Given the description of an element on the screen output the (x, y) to click on. 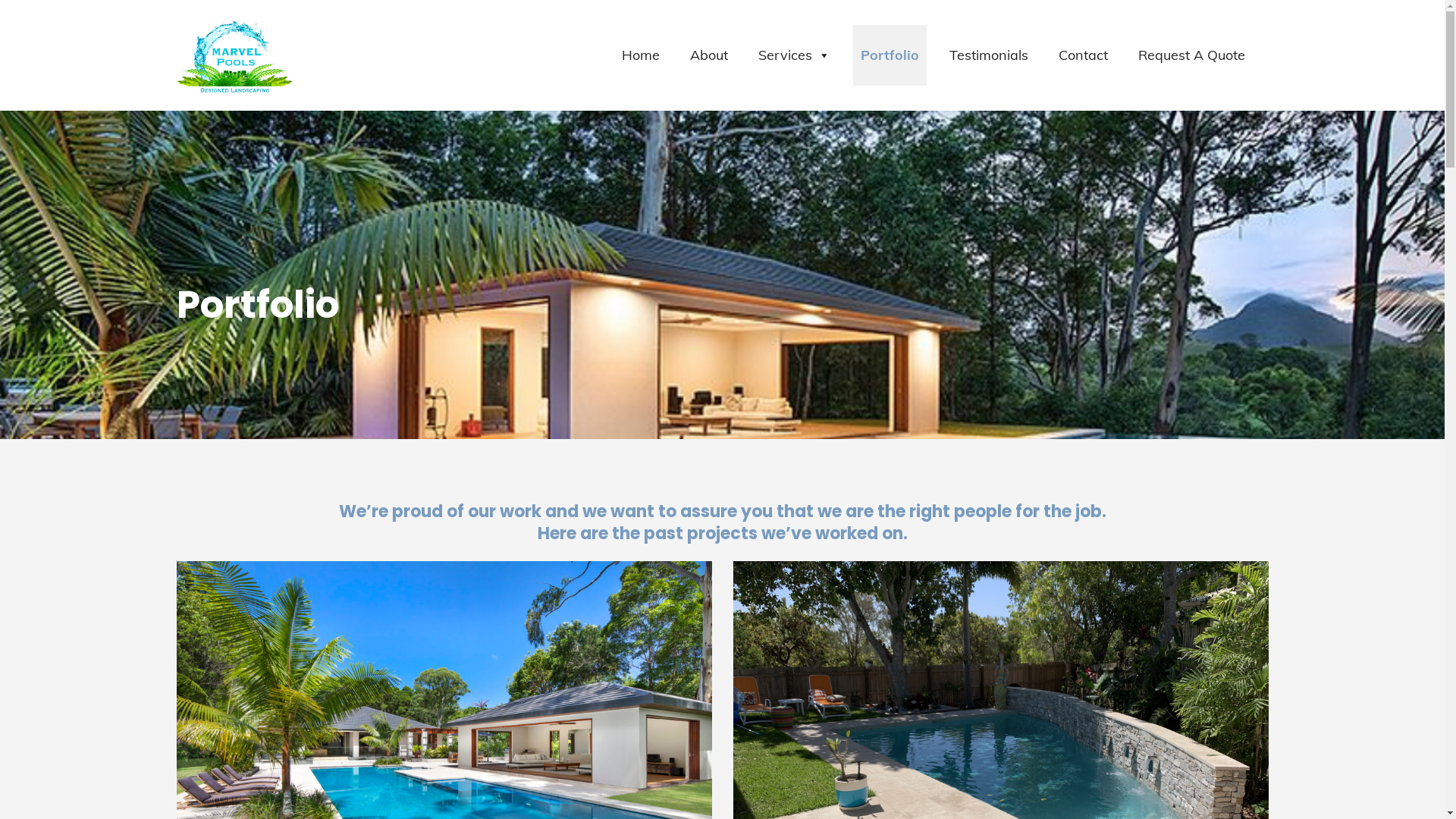
Services Element type: text (793, 55)
Testimonials Element type: text (988, 55)
Request A Quote Element type: text (1191, 55)
About Element type: text (708, 55)
Contact Element type: text (1083, 55)
Home Element type: text (640, 55)
Portfolio Element type: text (889, 55)
